Given the description of an element on the screen output the (x, y) to click on. 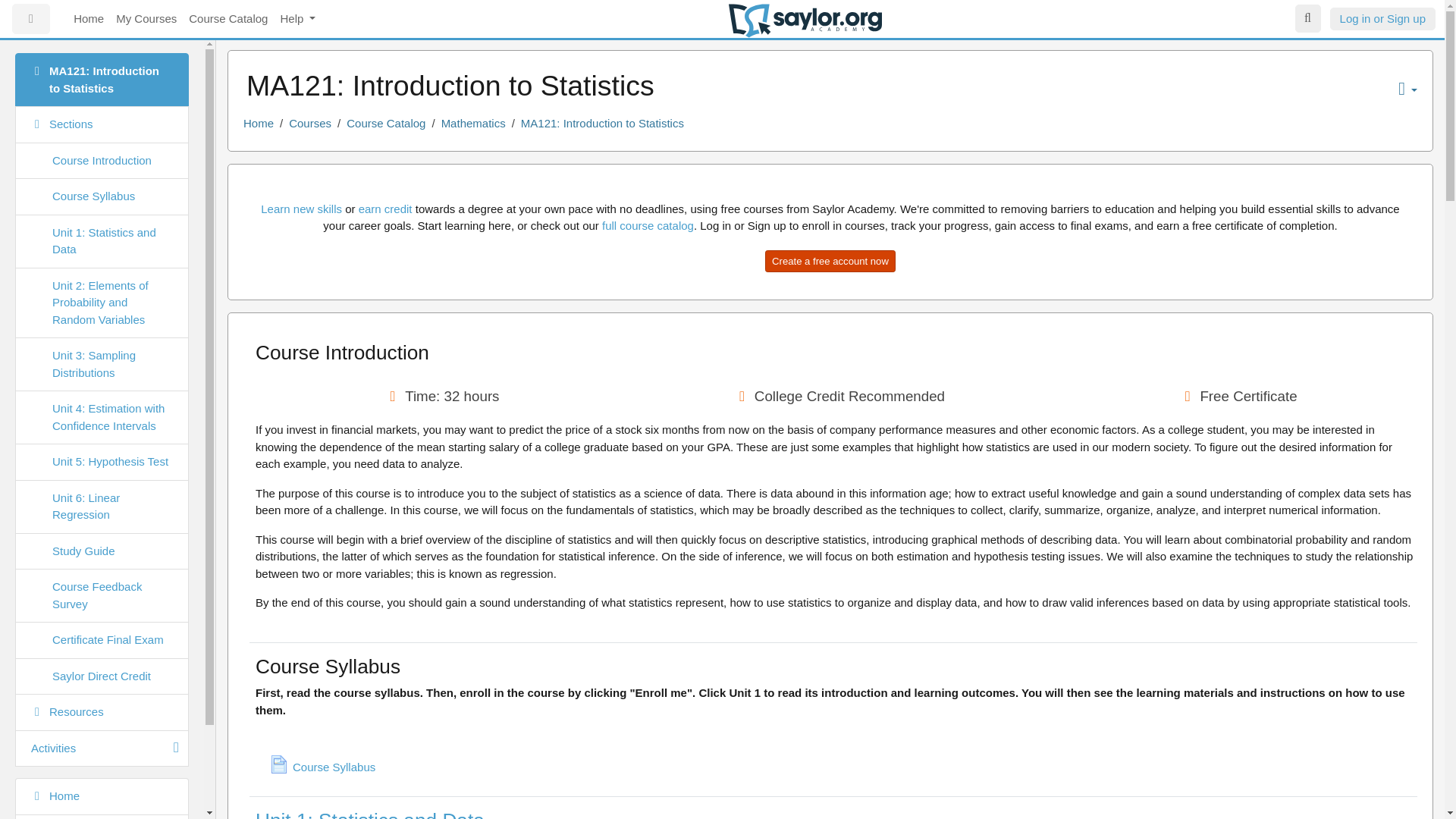
MA121: Introduction to Statistics (101, 80)
Home (101, 796)
Resources (101, 712)
Course Introduction (101, 160)
Unit 5: Hypothesis Test (101, 461)
Course Feedback Survey (101, 595)
Side panel (30, 19)
My Courses (146, 19)
Home (88, 19)
Unit 2: Elements of Probability and Random Variables (101, 302)
